Given the description of an element on the screen output the (x, y) to click on. 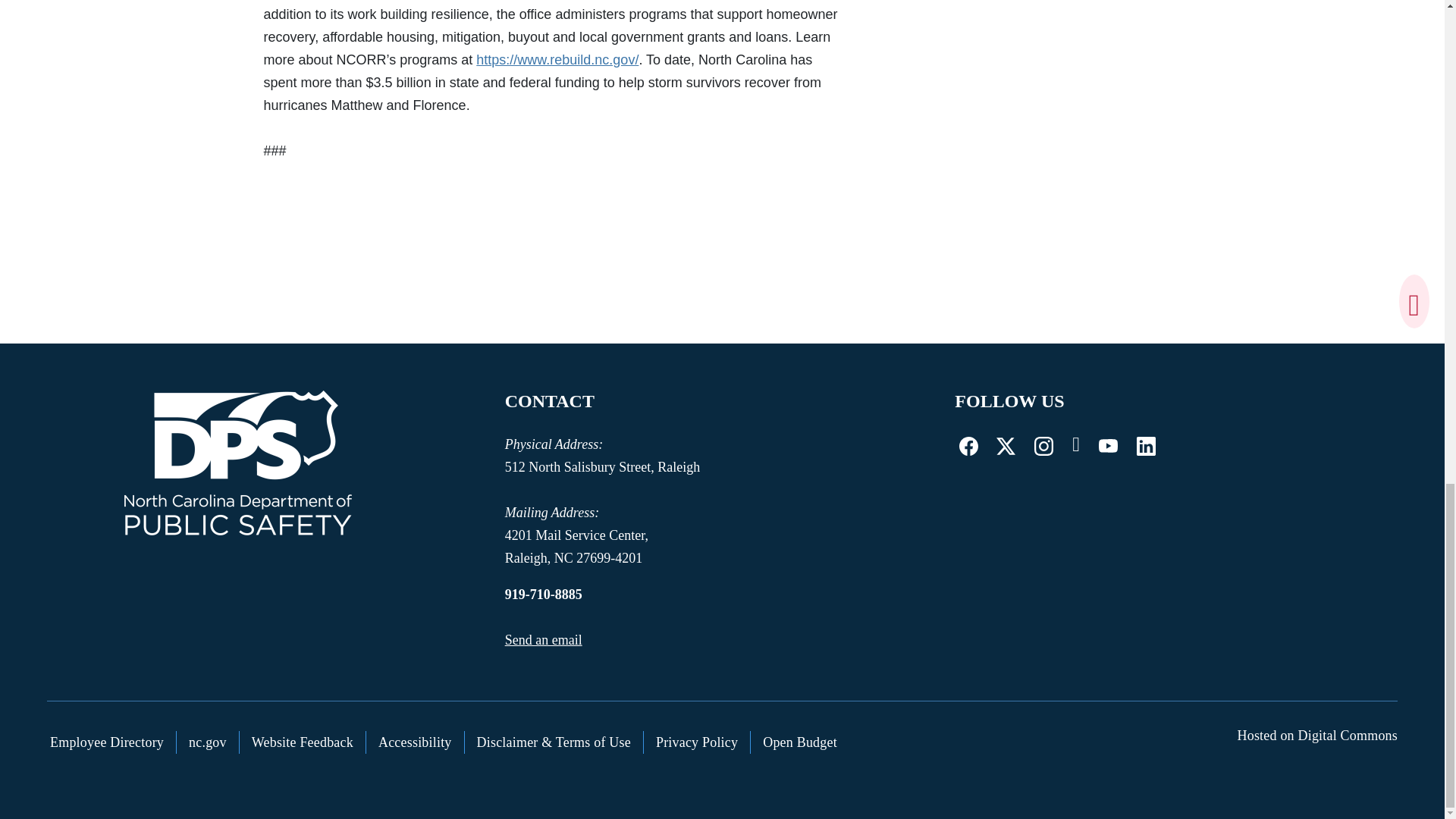
State of North Carolina Privacy Policy (697, 742)
State of North Carolina Open Budget (799, 742)
Accessibility of State of North Carolina Websites (415, 742)
Terms of Use (553, 742)
Website User Feedback Form (303, 742)
Send Email (543, 639)
The State of North Carolina (208, 742)
